Given the description of an element on the screen output the (x, y) to click on. 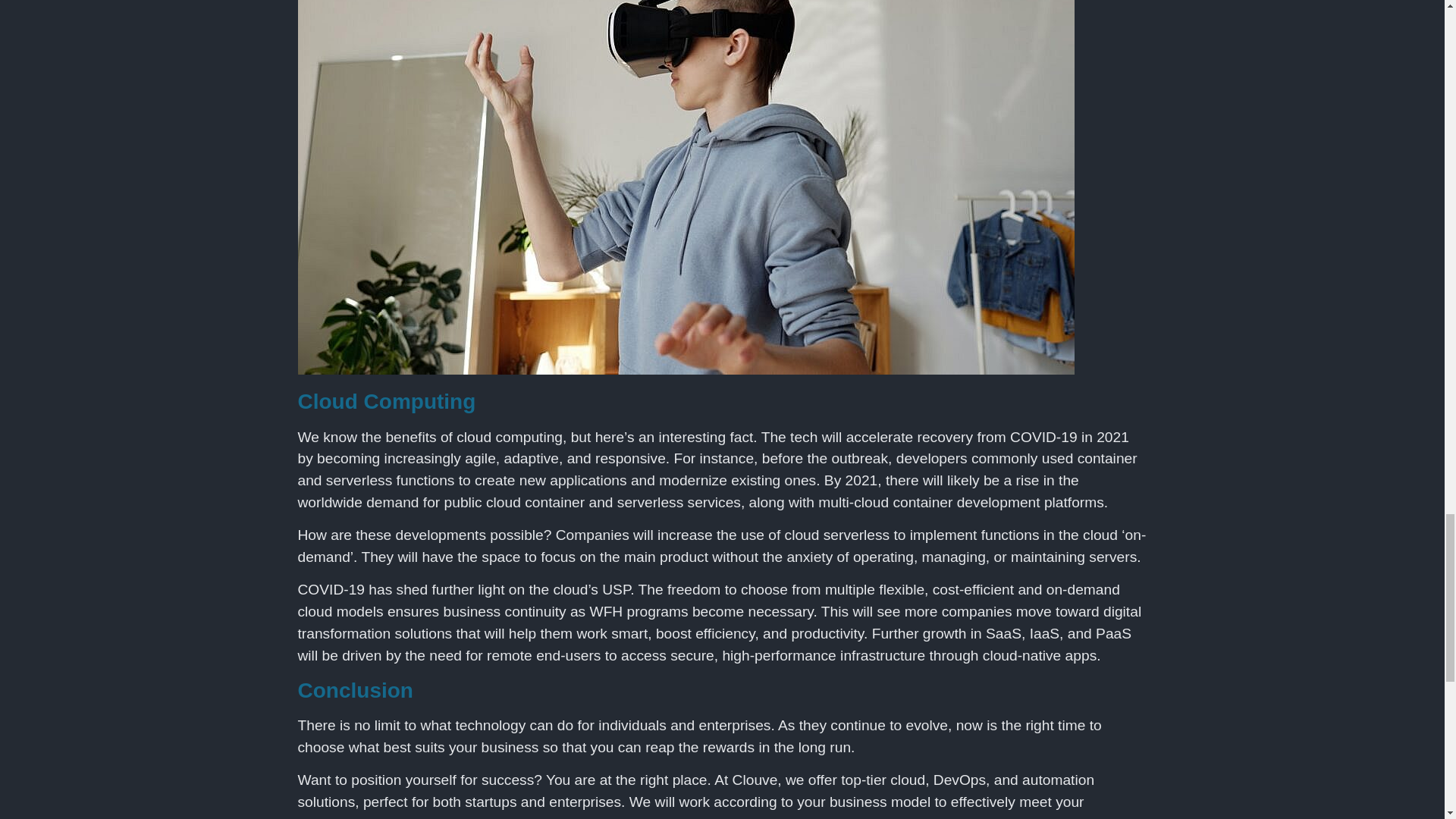
here (625, 817)
